Given the description of an element on the screen output the (x, y) to click on. 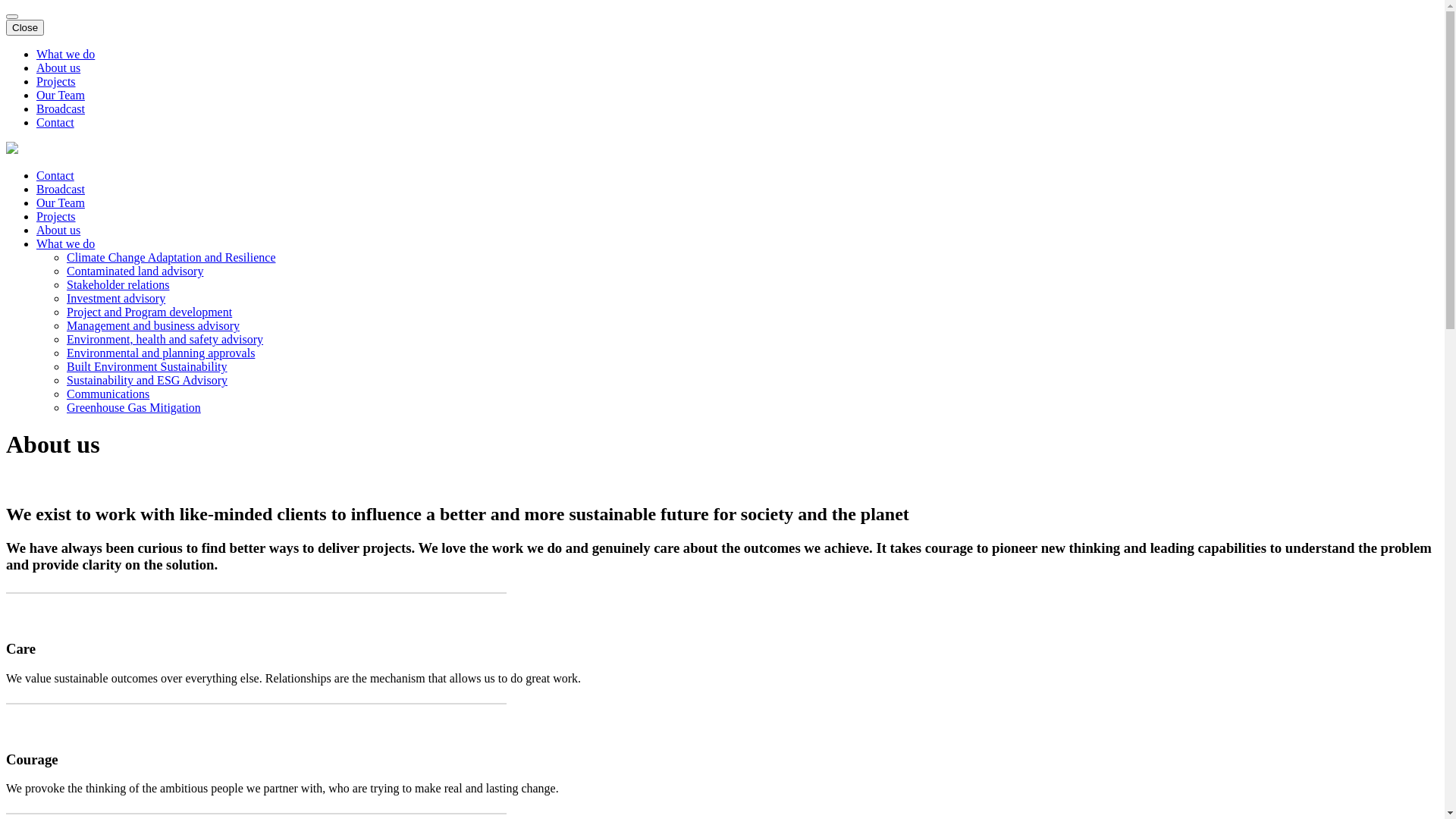
Contact Element type: text (55, 122)
Environment, health and safety advisory Element type: text (164, 338)
Management and business advisory Element type: text (152, 325)
Environmental and planning approvals Element type: text (160, 352)
Broadcast Element type: text (60, 108)
Stakeholder relations Element type: text (117, 284)
About us Element type: text (58, 67)
Investment advisory Element type: text (115, 297)
Sustainability and ESG Advisory Element type: text (146, 379)
What we do Element type: text (65, 53)
Our Team Element type: text (60, 94)
Projects Element type: text (55, 81)
Communications Element type: text (107, 393)
Contaminated land advisory Element type: text (134, 270)
Built Environment Sustainability Element type: text (146, 366)
Broadcast Element type: text (60, 188)
Greenhouse Gas Mitigation Element type: text (133, 407)
Contact Element type: text (55, 175)
Our Team Element type: text (60, 202)
Project and Program development Element type: text (149, 311)
Climate Change Adaptation and Resilience Element type: text (170, 257)
What we do Element type: text (65, 243)
Home Element type: hover (12, 149)
Projects Element type: text (55, 216)
Close Element type: text (24, 27)
About us Element type: text (58, 229)
